Given the description of an element on the screen output the (x, y) to click on. 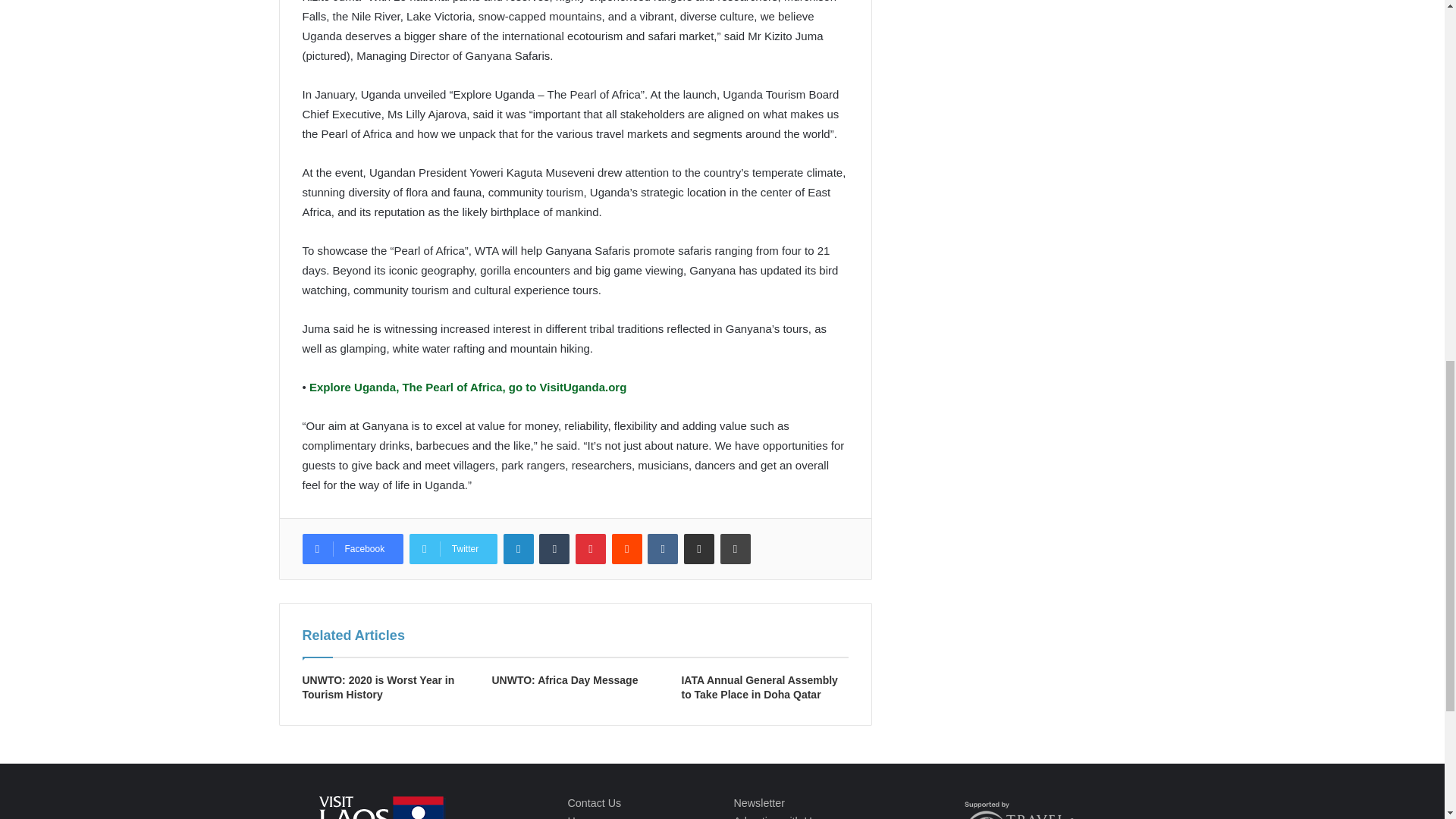
Tumblr (553, 548)
Twitter (453, 548)
Reddit (626, 548)
Facebook (352, 548)
LinkedIn (518, 548)
Print (735, 548)
Pinterest (590, 548)
Share via Email (699, 548)
VKontakte (662, 548)
